Given the description of an element on the screen output the (x, y) to click on. 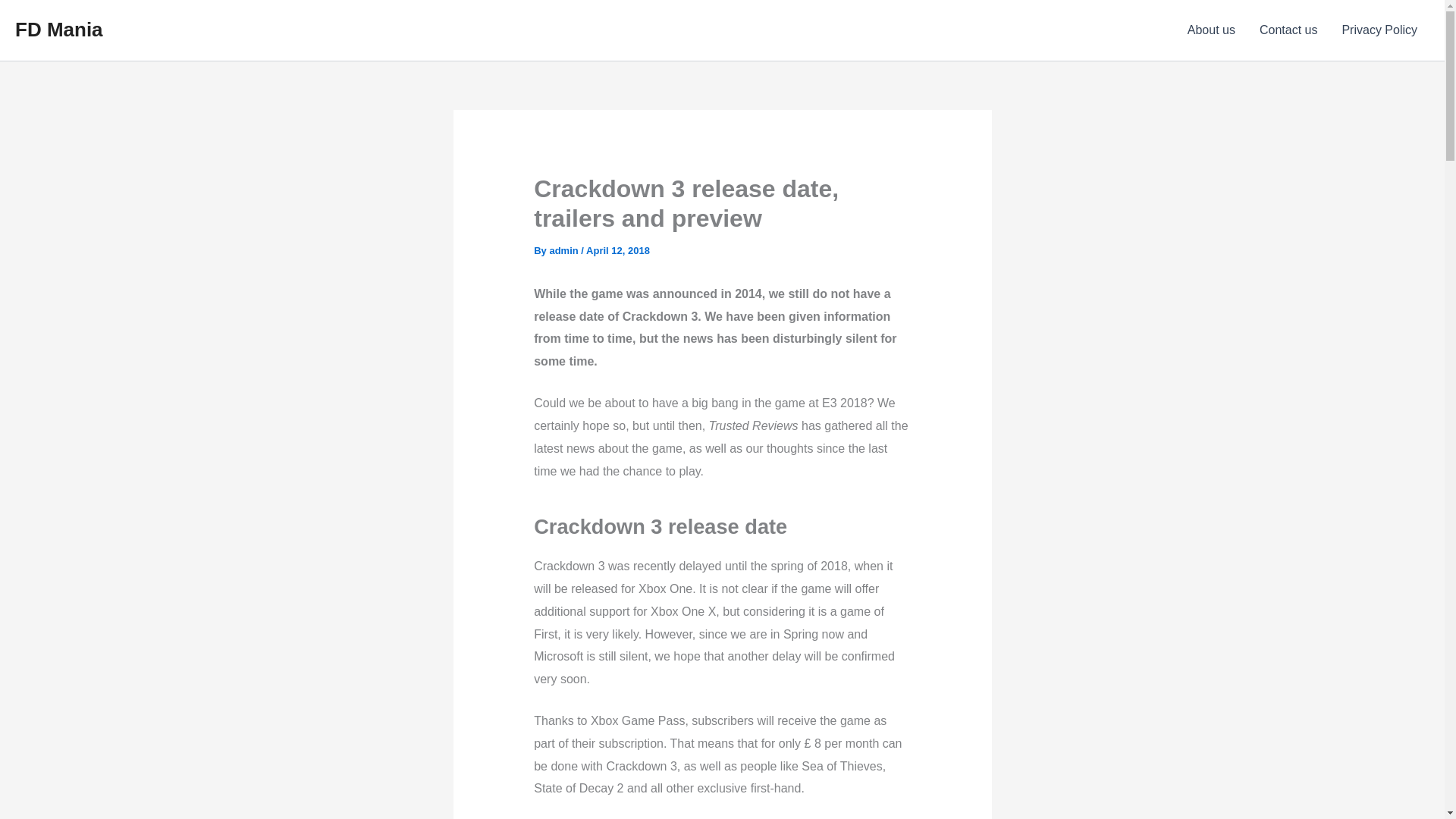
admin (563, 250)
About us (1210, 30)
FD Mania (58, 29)
Privacy Policy (1379, 30)
Contact us (1288, 30)
View all posts by admin (563, 250)
